Given the description of an element on the screen output the (x, y) to click on. 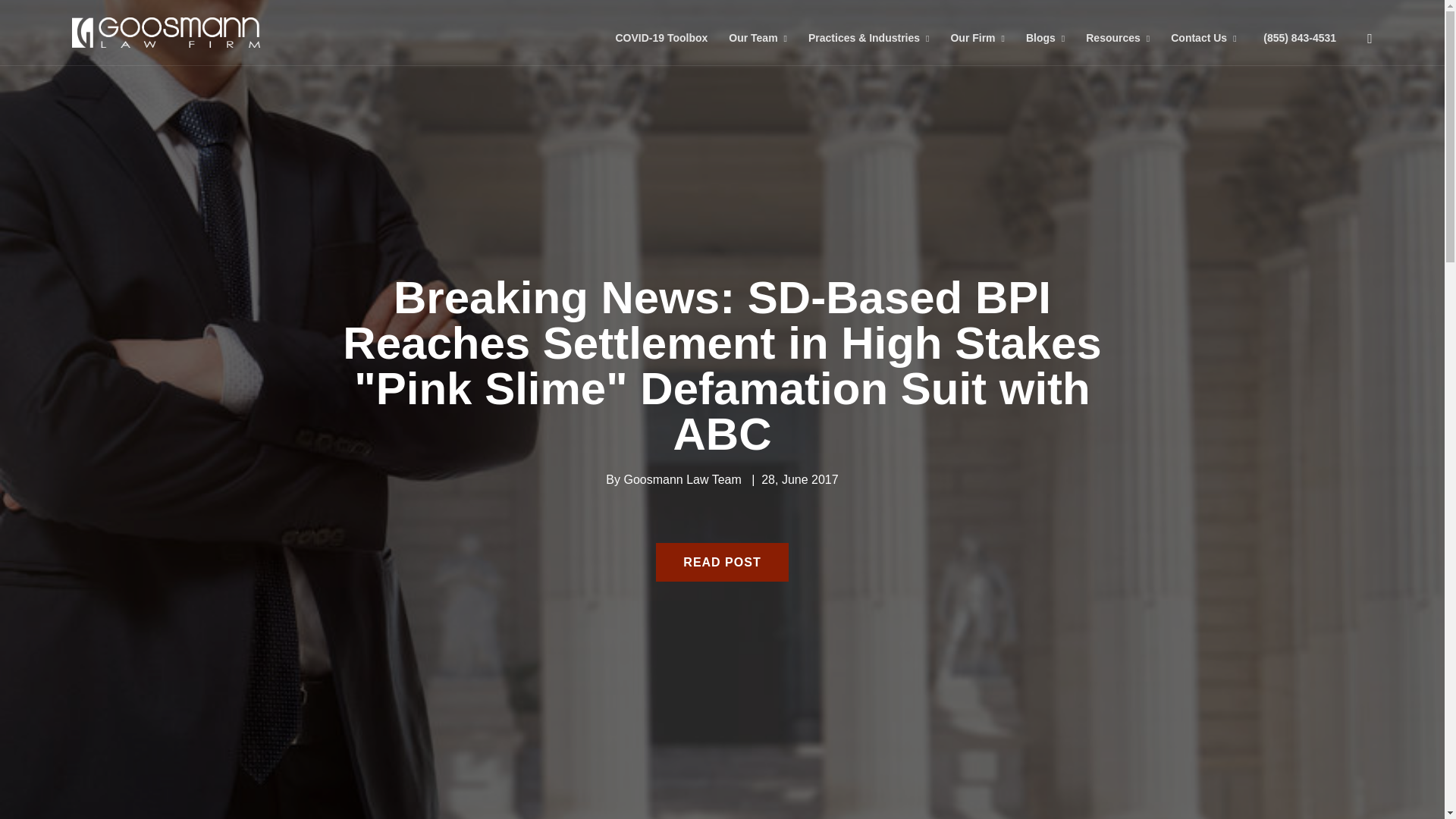
Goosman Lawfirm (165, 32)
COVID-19 Toolbox (660, 32)
Our Team (758, 32)
